Given the description of an element on the screen output the (x, y) to click on. 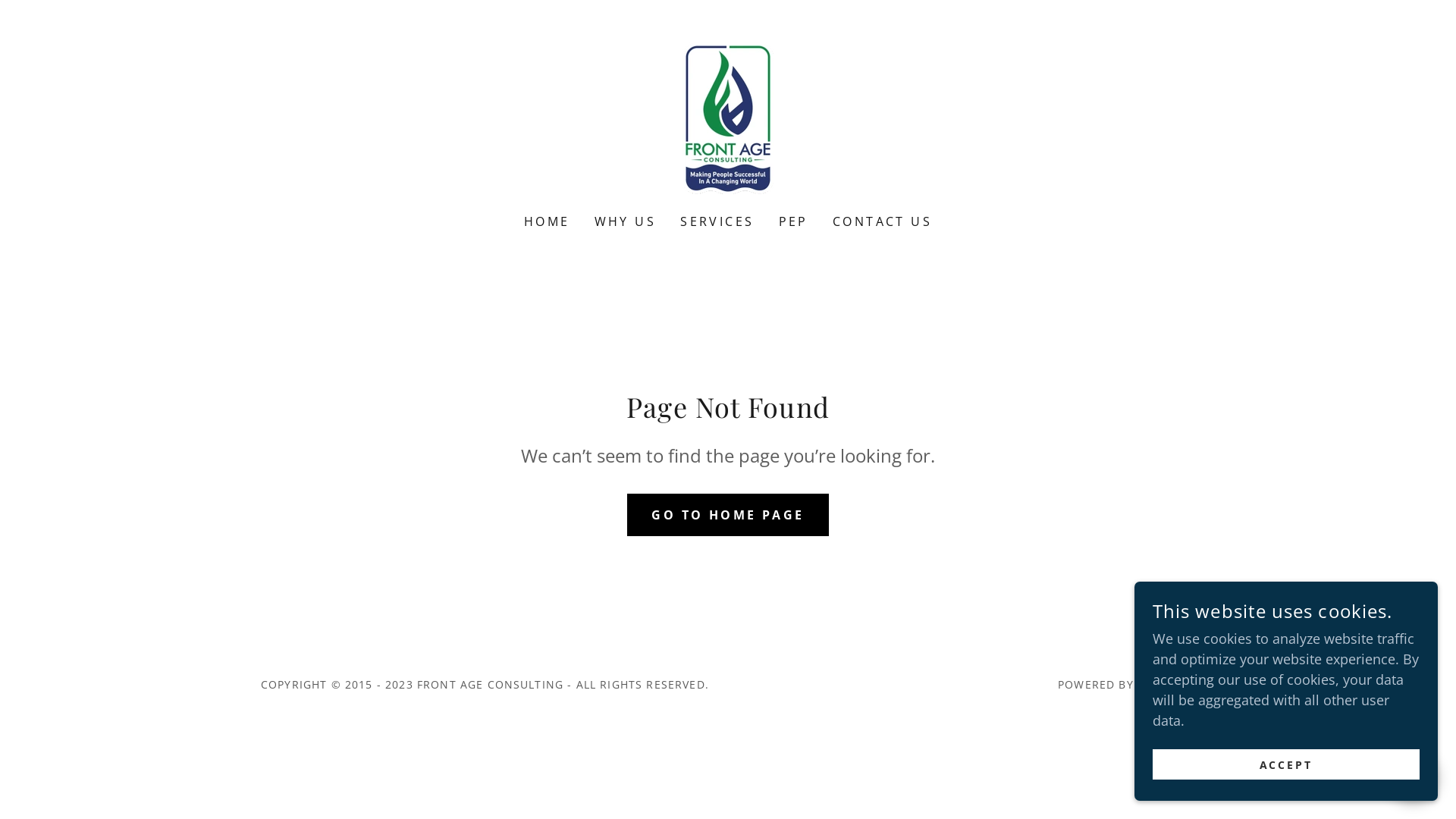
GO TO HOME PAGE Element type: text (727, 513)
SERVICES Element type: text (716, 221)
PEP Element type: text (793, 221)
ACCEPT Element type: text (1285, 764)
CONTACT US Element type: text (882, 221)
Front Age Consulting Element type: hover (727, 116)
WHY US Element type: text (625, 221)
GODADDY Element type: text (1166, 684)
HOME Element type: text (546, 221)
